Given the description of an element on the screen output the (x, y) to click on. 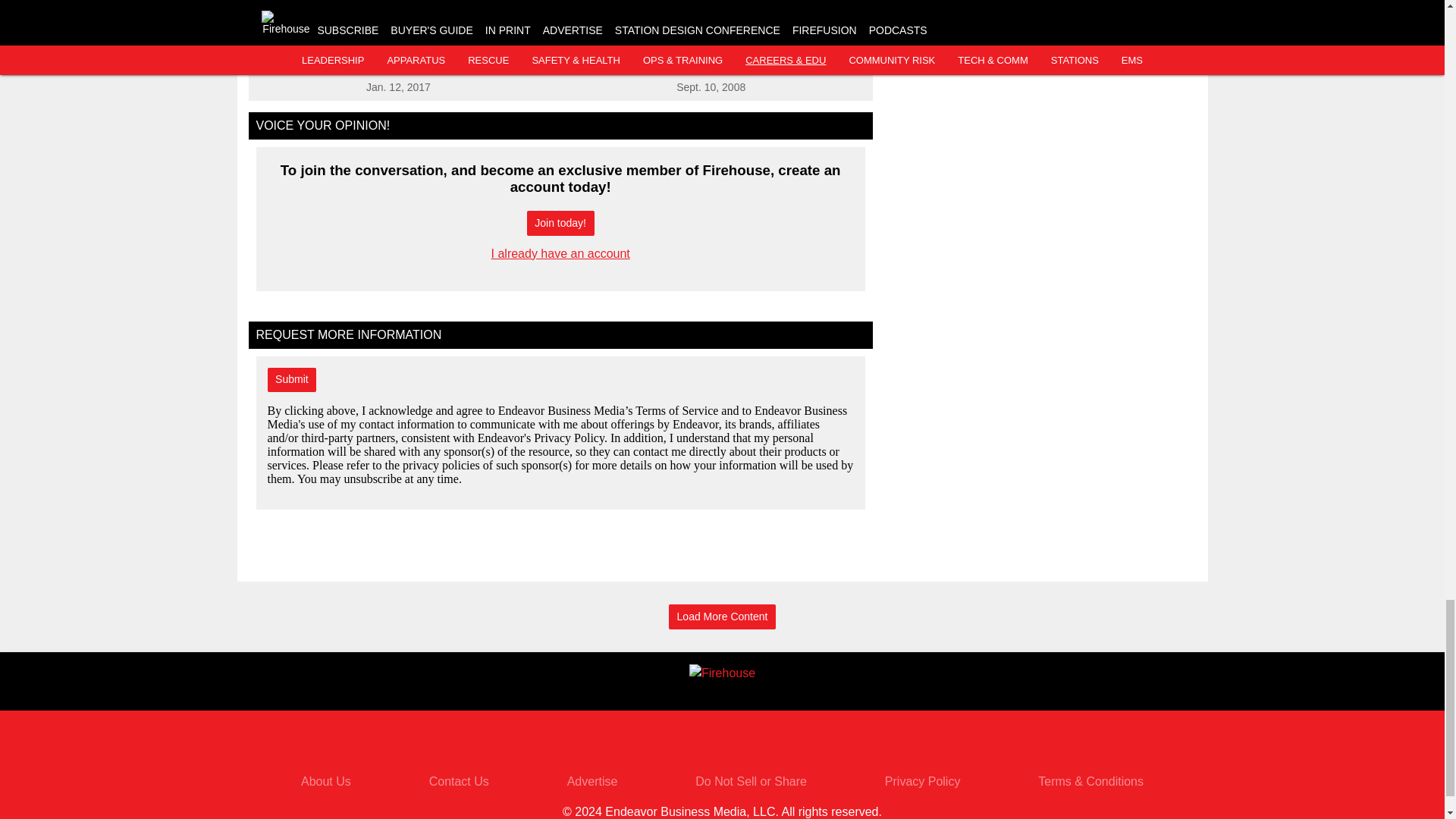
nfpa logo 5942a119dcb25 (307, 52)
iafc logo 599afe764e75c (617, 52)
National Fire Protection Association (459, 55)
Submit (290, 380)
I already have an account (561, 253)
International Association of Fire Chiefs - IAFC (770, 55)
Join today! (560, 222)
